Given the description of an element on the screen output the (x, y) to click on. 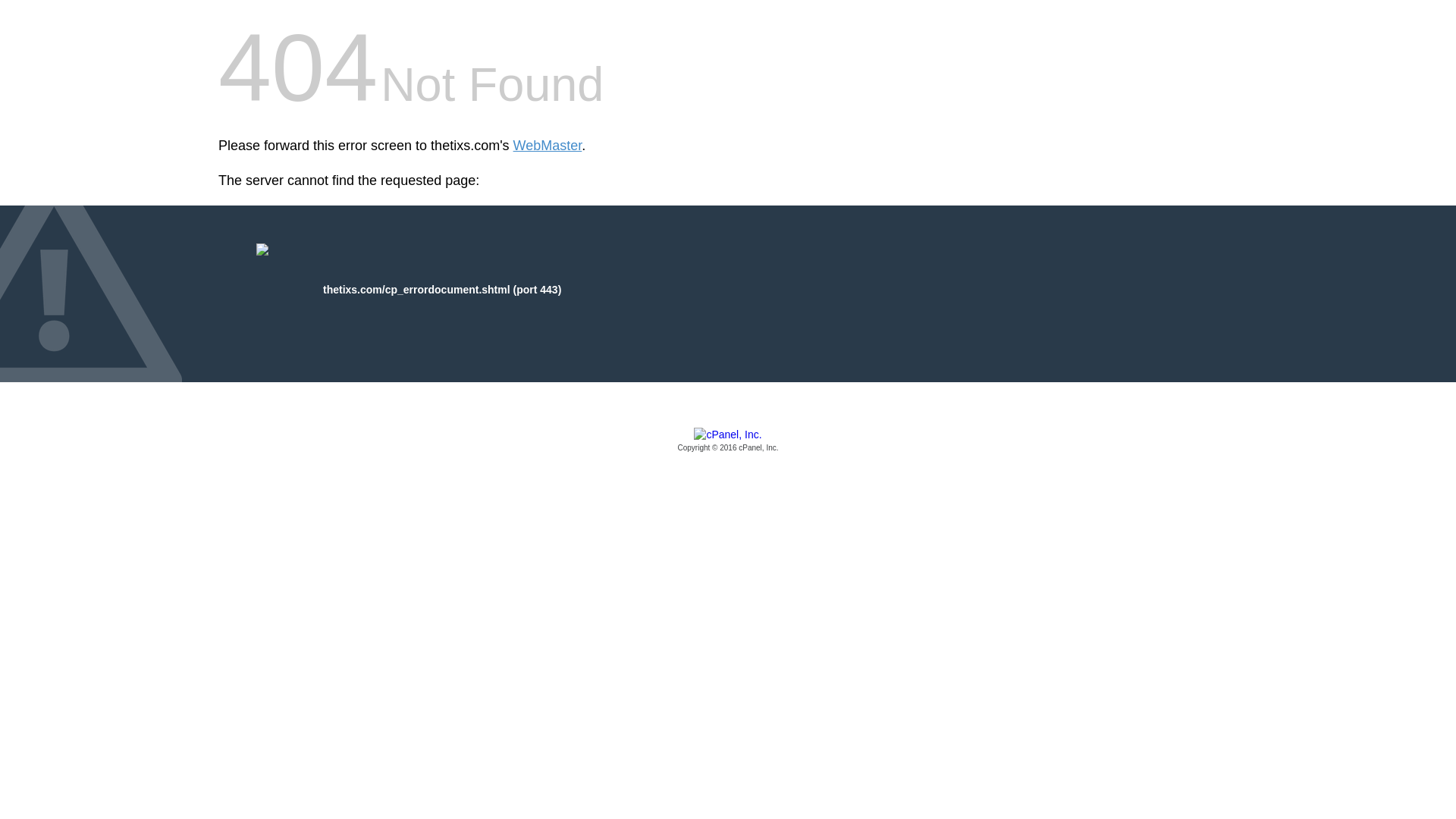
cPanel, Inc. (727, 440)
WebMaster (547, 145)
